Given the description of an element on the screen output the (x, y) to click on. 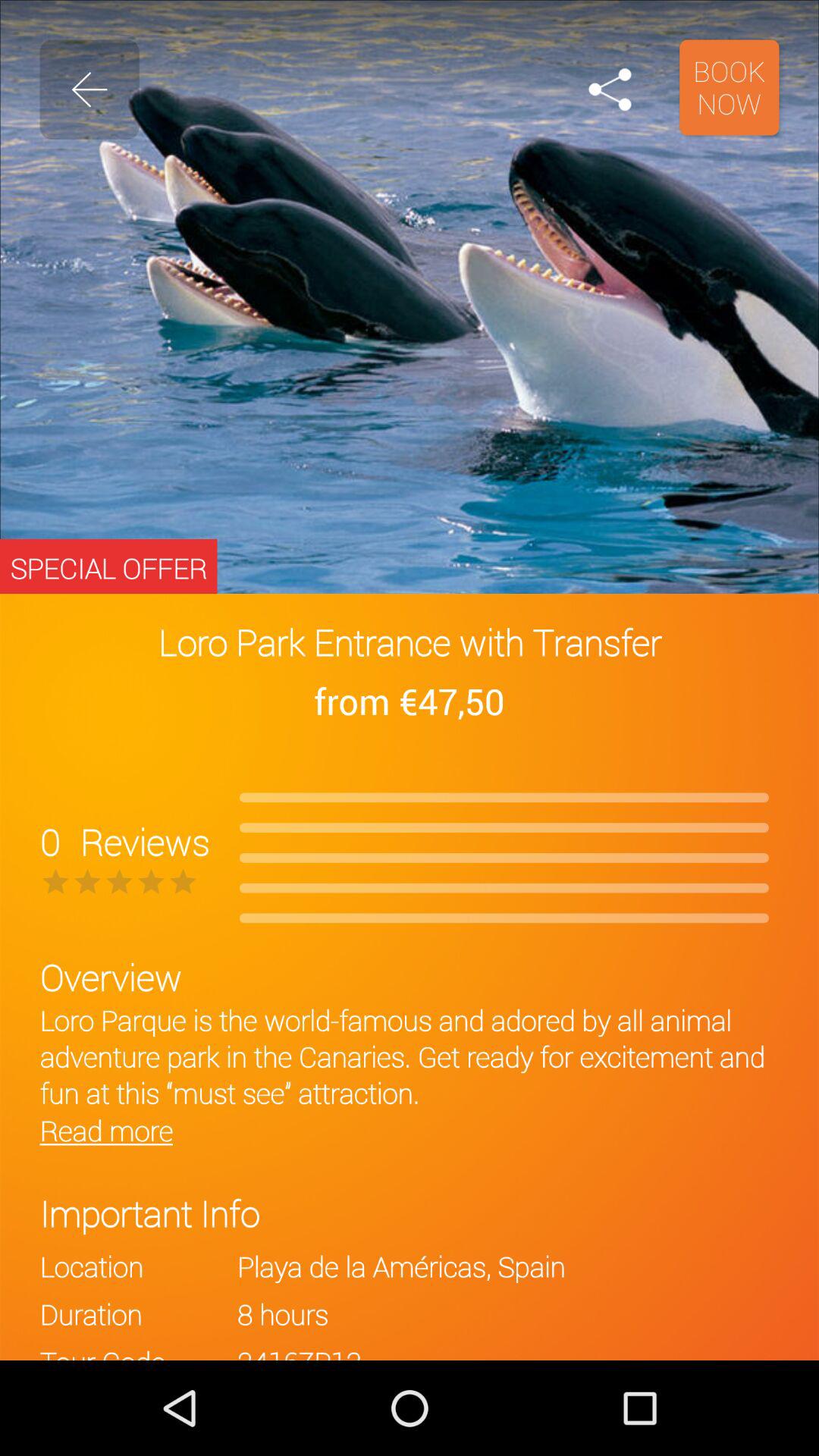
open the icon above loro park entrance icon (729, 87)
